Given the description of an element on the screen output the (x, y) to click on. 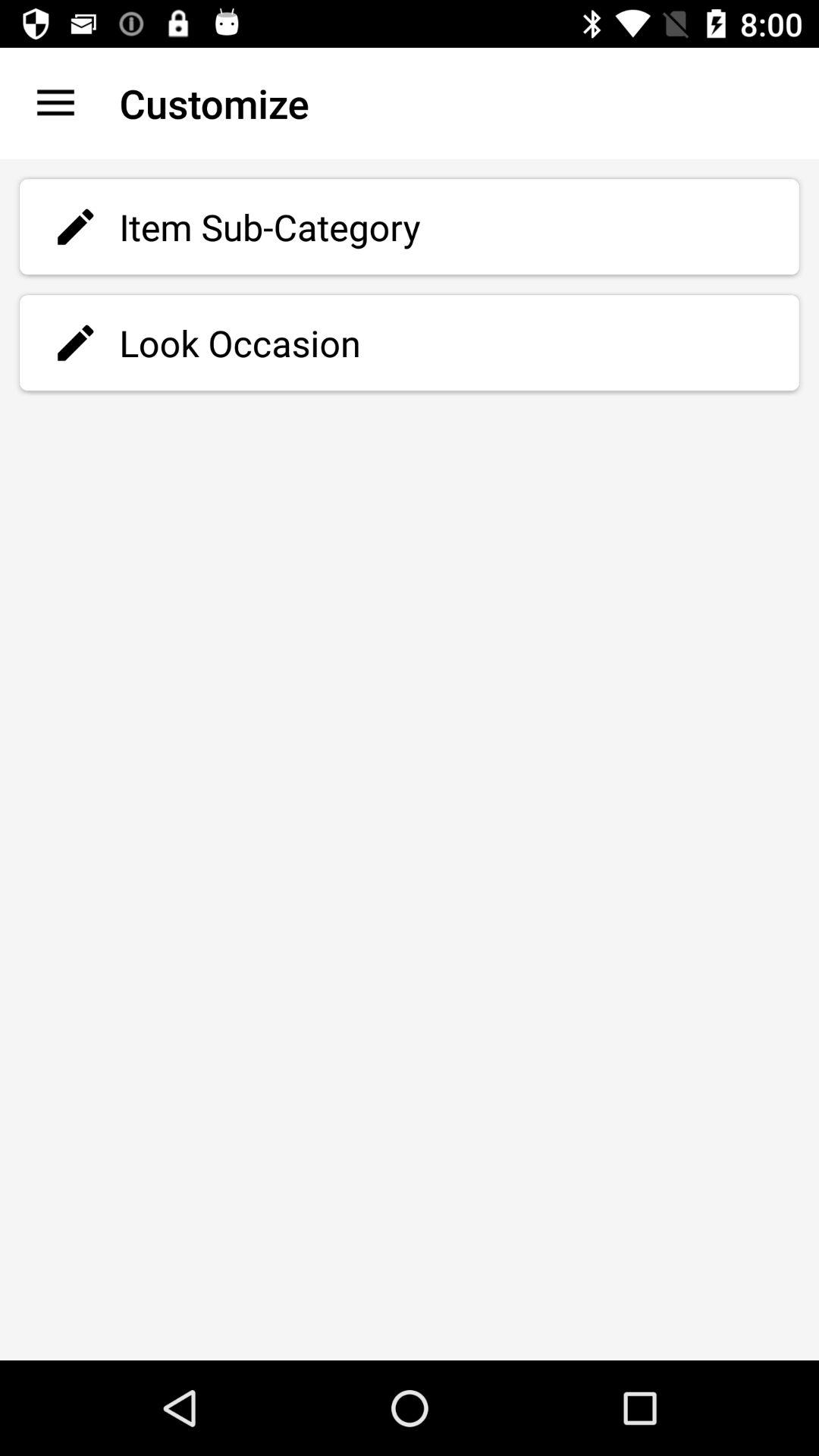
tap the item above item sub-category icon (55, 103)
